Given the description of an element on the screen output the (x, y) to click on. 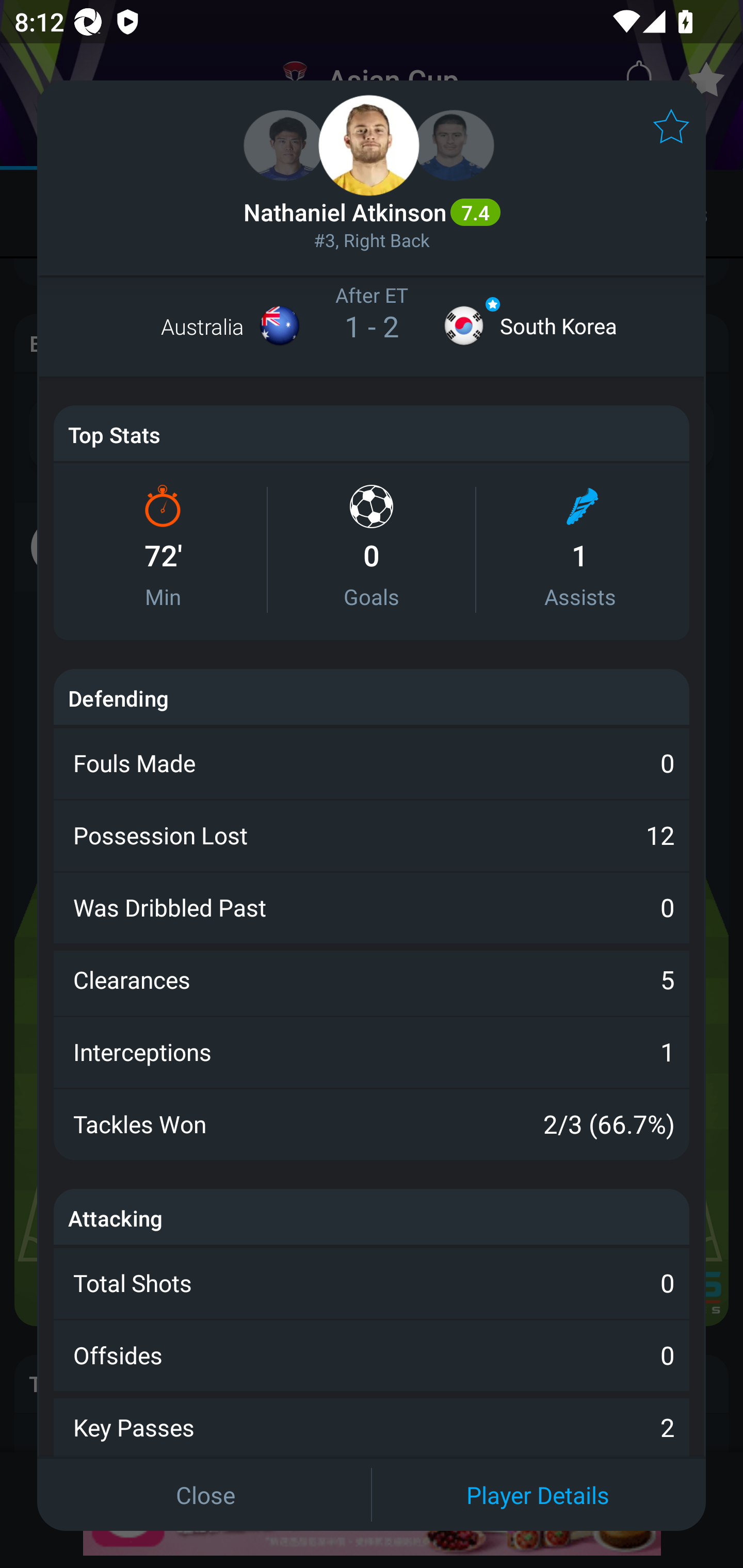
Australia After ET 1 - 2 South Korea (371, 325)
Defending (118, 697)
Attacking (115, 1218)
Close (205, 1494)
Player Details (537, 1494)
